Given the description of an element on the screen output the (x, y) to click on. 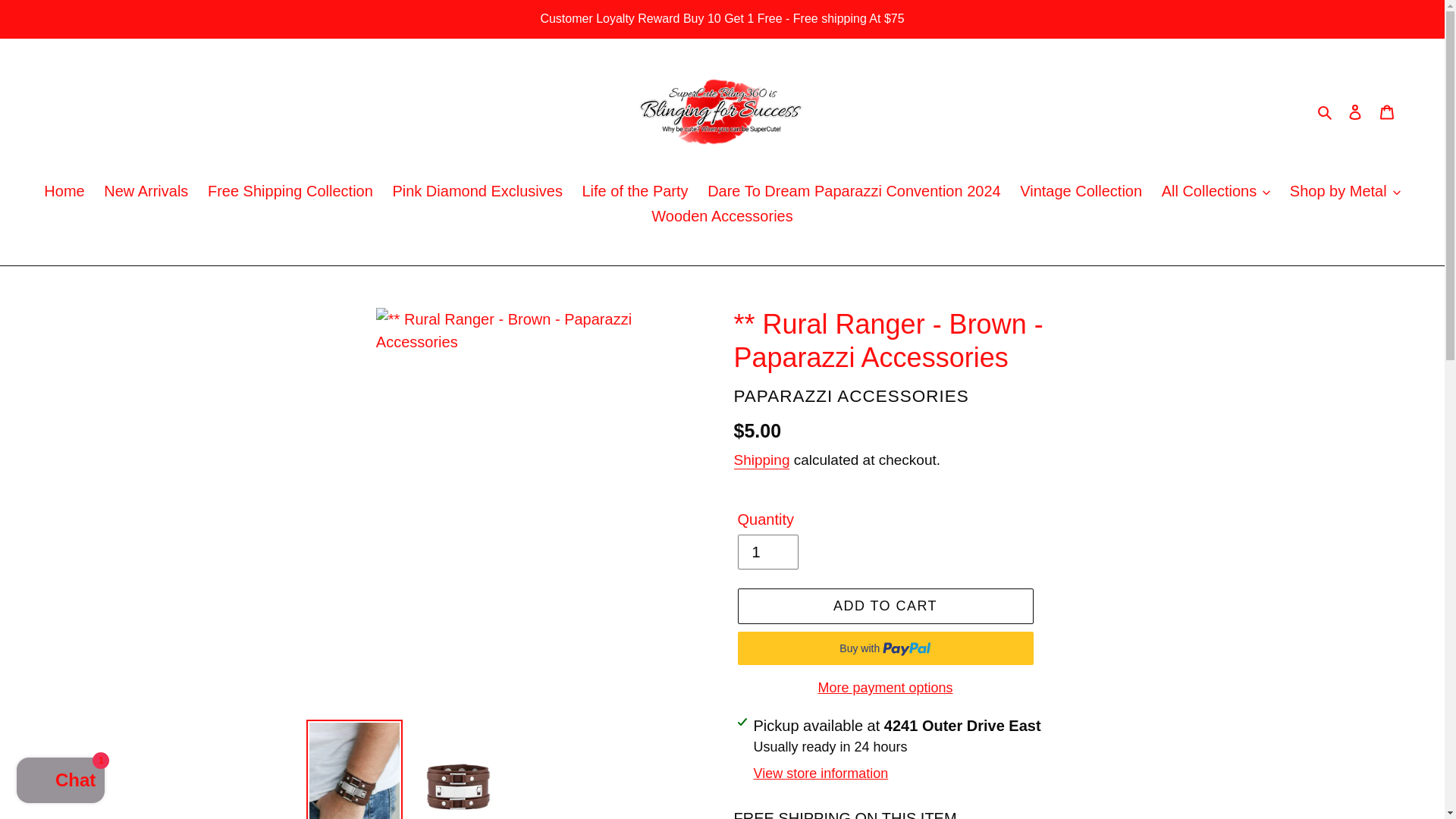
Shopify online store chat (60, 781)
Search (1326, 110)
Log in (1355, 111)
1 (766, 551)
Cart (1387, 111)
